Given the description of an element on the screen output the (x, y) to click on. 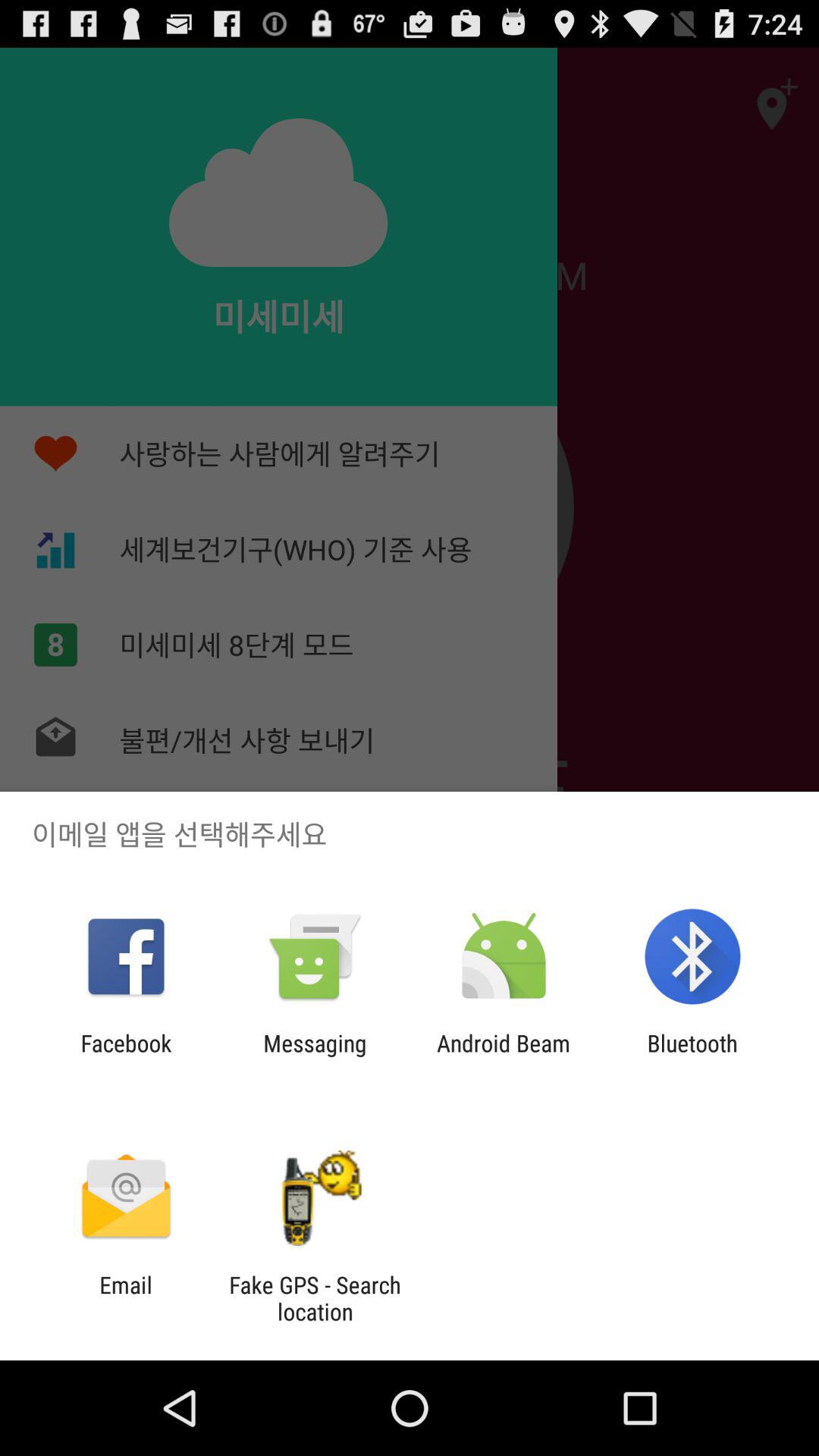
press the item next to the email (314, 1298)
